Given the description of an element on the screen output the (x, y) to click on. 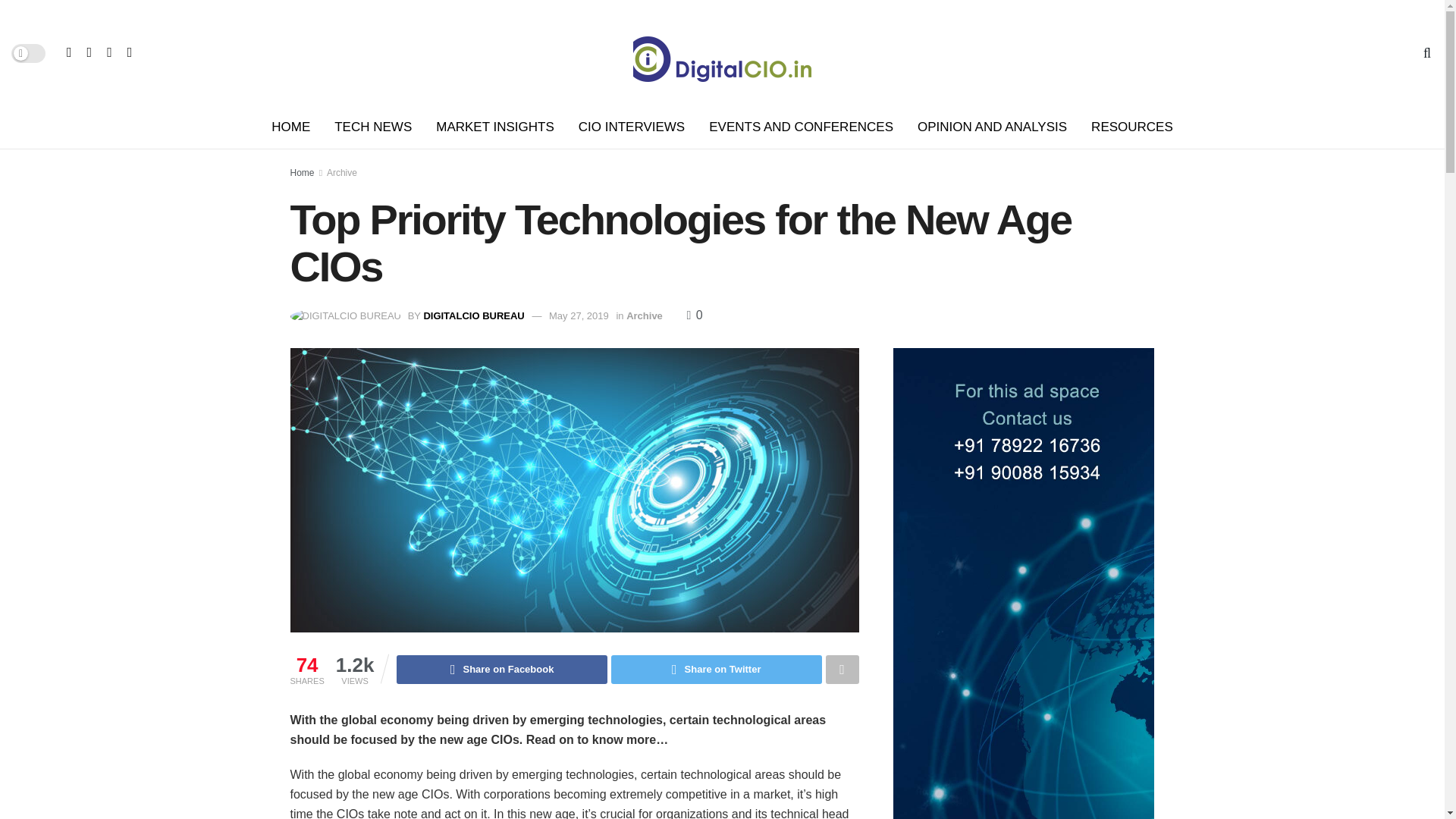
Share on Facebook (501, 669)
Home (301, 172)
EVENTS AND CONFERENCES (801, 127)
TECH NEWS (372, 127)
MARKET INSIGHTS (494, 127)
May 27, 2019 (578, 315)
OPINION AND ANALYSIS (991, 127)
DIGITALCIO BUREAU (473, 315)
Share on Twitter (716, 669)
Archive (341, 172)
0 (693, 314)
Archive (644, 315)
CIO INTERVIEWS (631, 127)
HOME (290, 127)
RESOURCES (1131, 127)
